Given the description of an element on the screen output the (x, y) to click on. 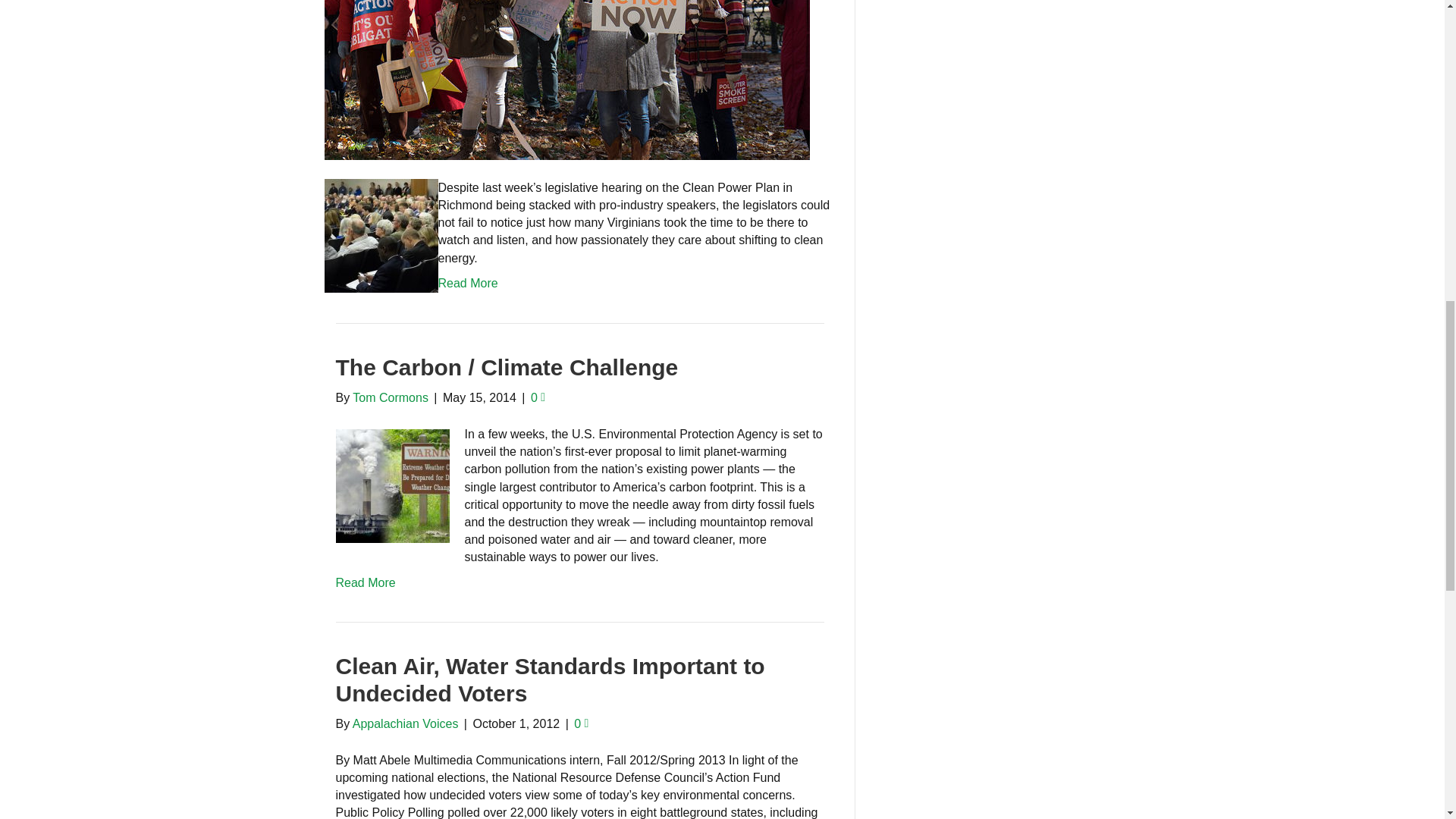
Clean Air, Water Standards Important to Undecided Voters (549, 679)
